Given the description of an element on the screen output the (x, y) to click on. 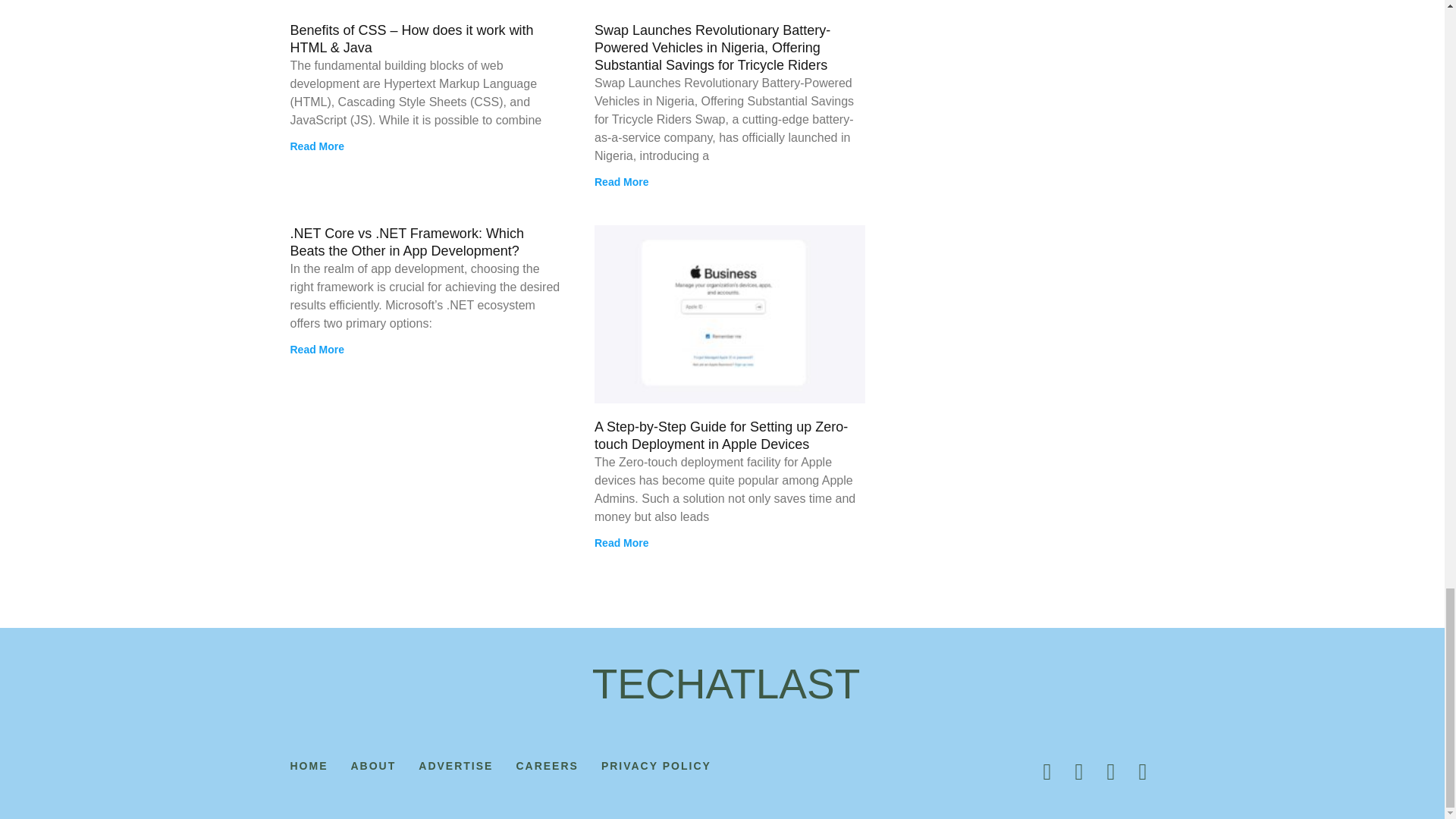
Read More (621, 182)
Read More (316, 146)
Read More (316, 349)
